Given the description of an element on the screen output the (x, y) to click on. 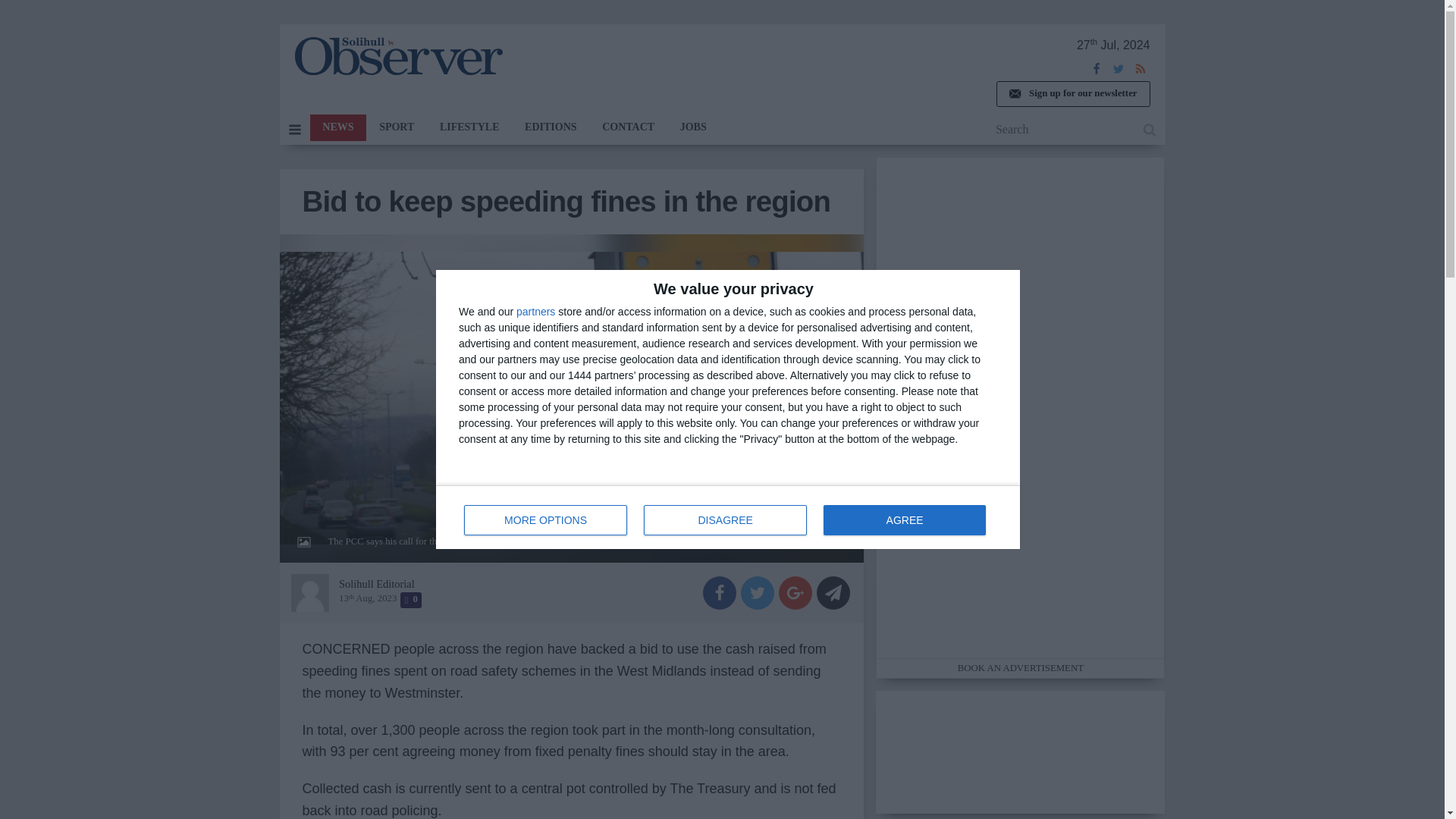
LIFESTYLE (469, 127)
AGREE (904, 520)
partners (535, 311)
NEWS (337, 127)
EDITIONS (550, 127)
The Solihull Observer (398, 55)
SPORT (396, 127)
  Sign up for our newsletter (727, 516)
MORE OPTIONS (1072, 94)
DISAGREE (545, 520)
CONTACT (724, 520)
